Given the description of an element on the screen output the (x, y) to click on. 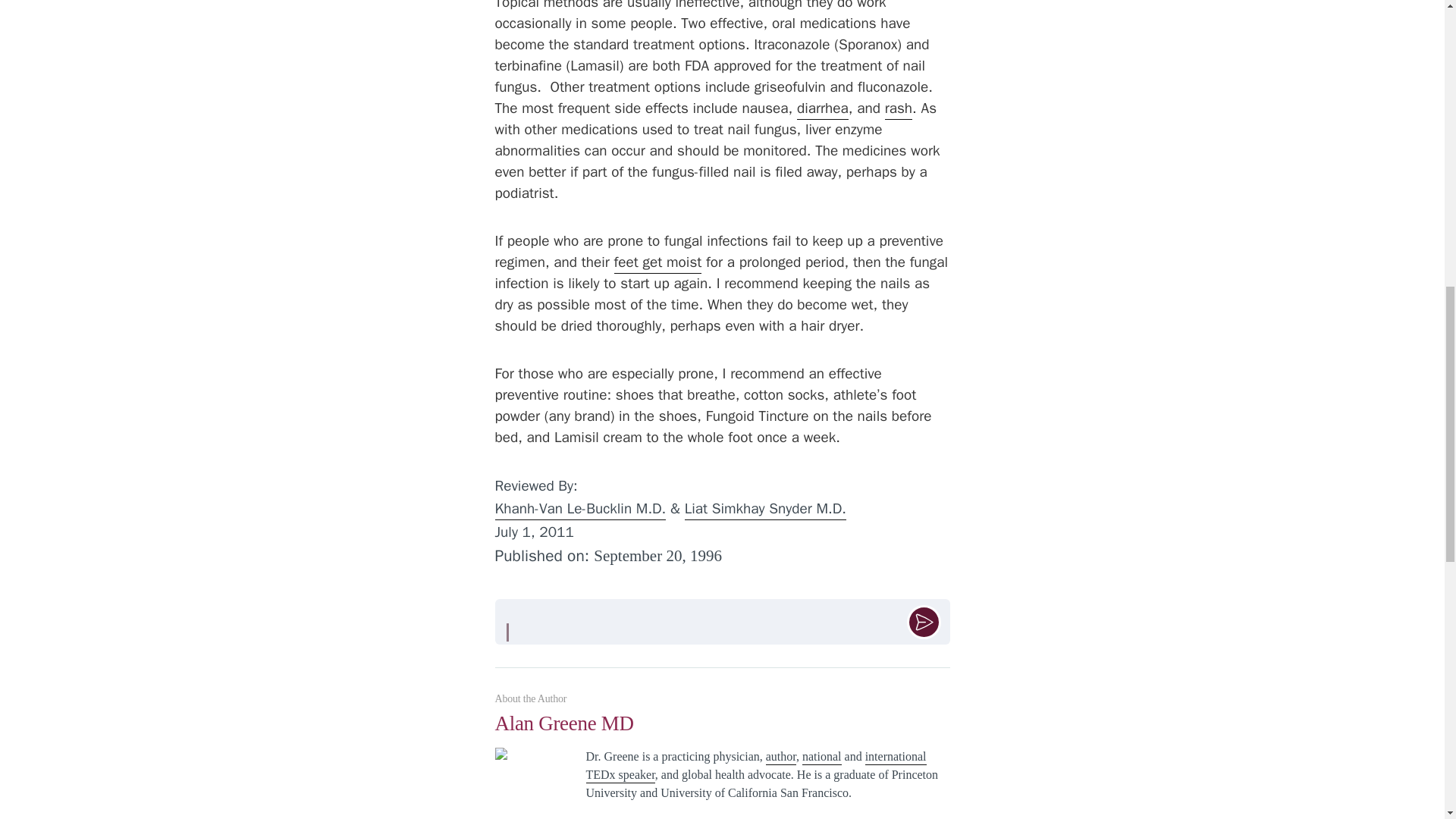
rash (898, 109)
Khanh-Van Le-Bucklin M.D. (580, 509)
Alan Greene MD (722, 730)
Liat Simkhay Snyder M.D. (764, 509)
feet get moist (657, 263)
international TEDx speaker (755, 766)
author (780, 757)
diarrhea (822, 109)
national (821, 757)
